Given the description of an element on the screen output the (x, y) to click on. 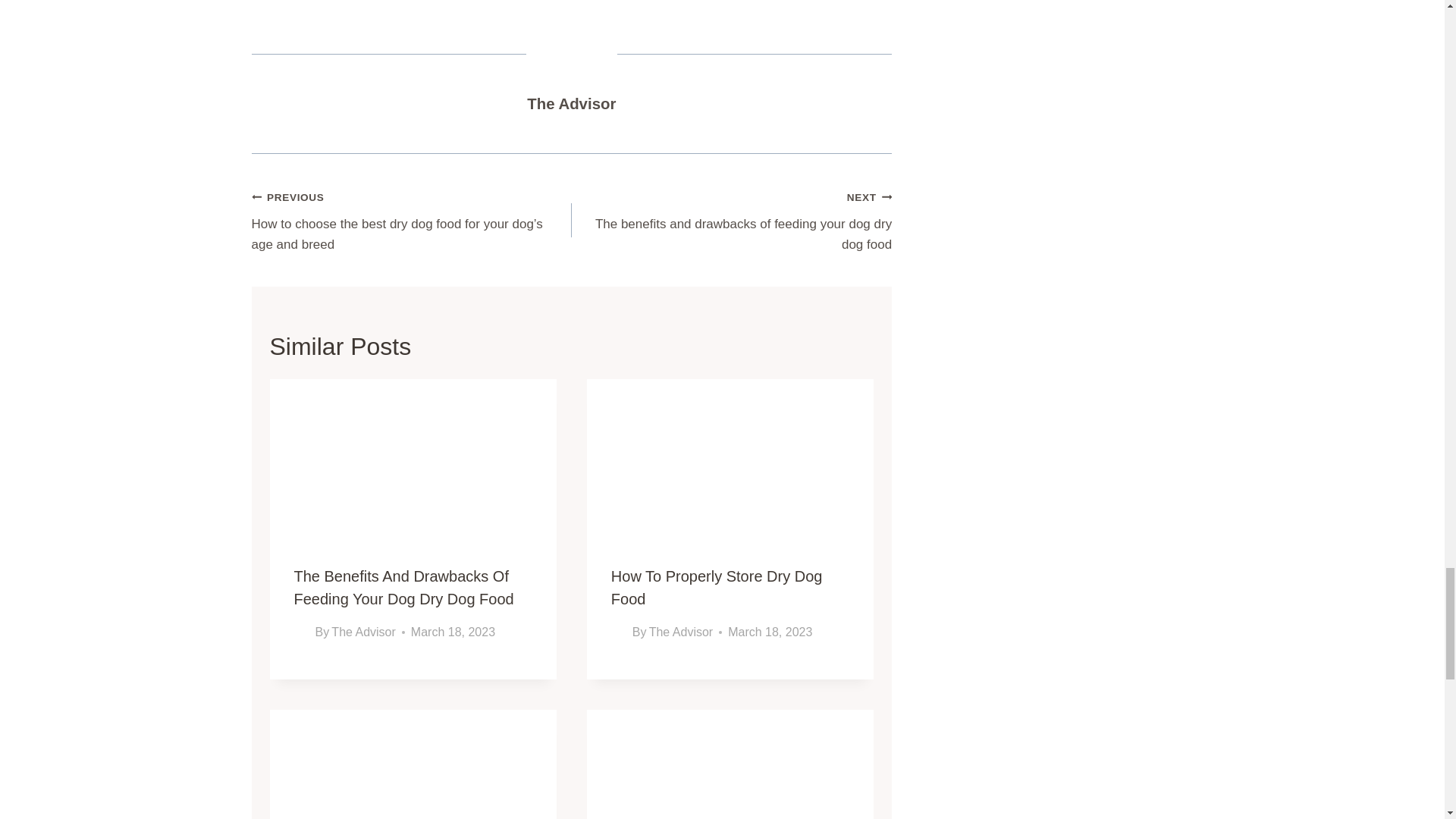
The Advisor (571, 103)
How To Properly Store Dry Dog Food (716, 587)
The Advisor (362, 631)
Posts by The Advisor (571, 103)
The Benefits And Drawbacks Of Feeding Your Dog Dry Dog Food (403, 587)
The Advisor (681, 631)
